Given the description of an element on the screen output the (x, y) to click on. 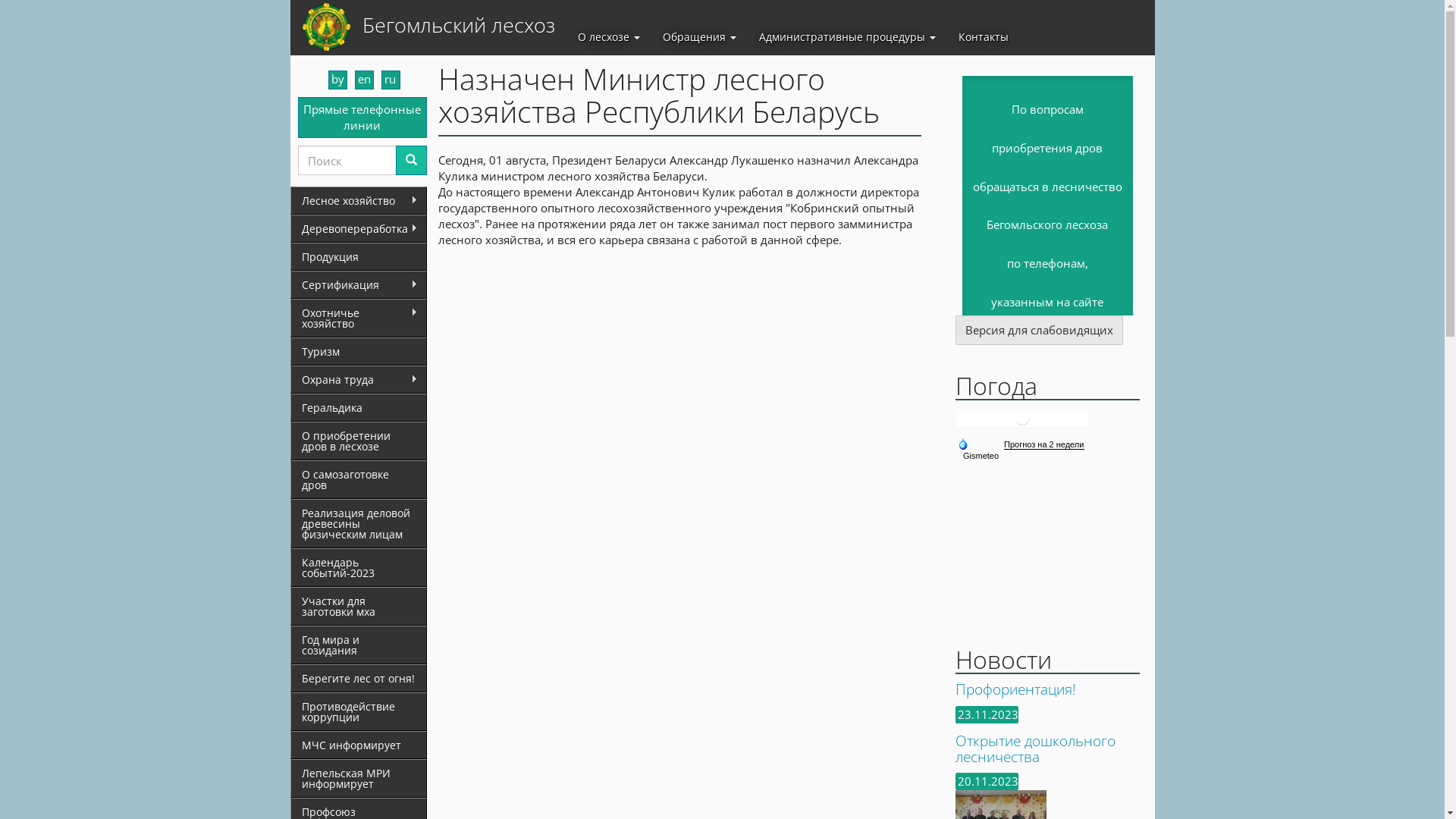
ru Element type: text (389, 78)
by Element type: text (336, 78)
en Element type: text (363, 78)
